Given the description of an element on the screen output the (x, y) to click on. 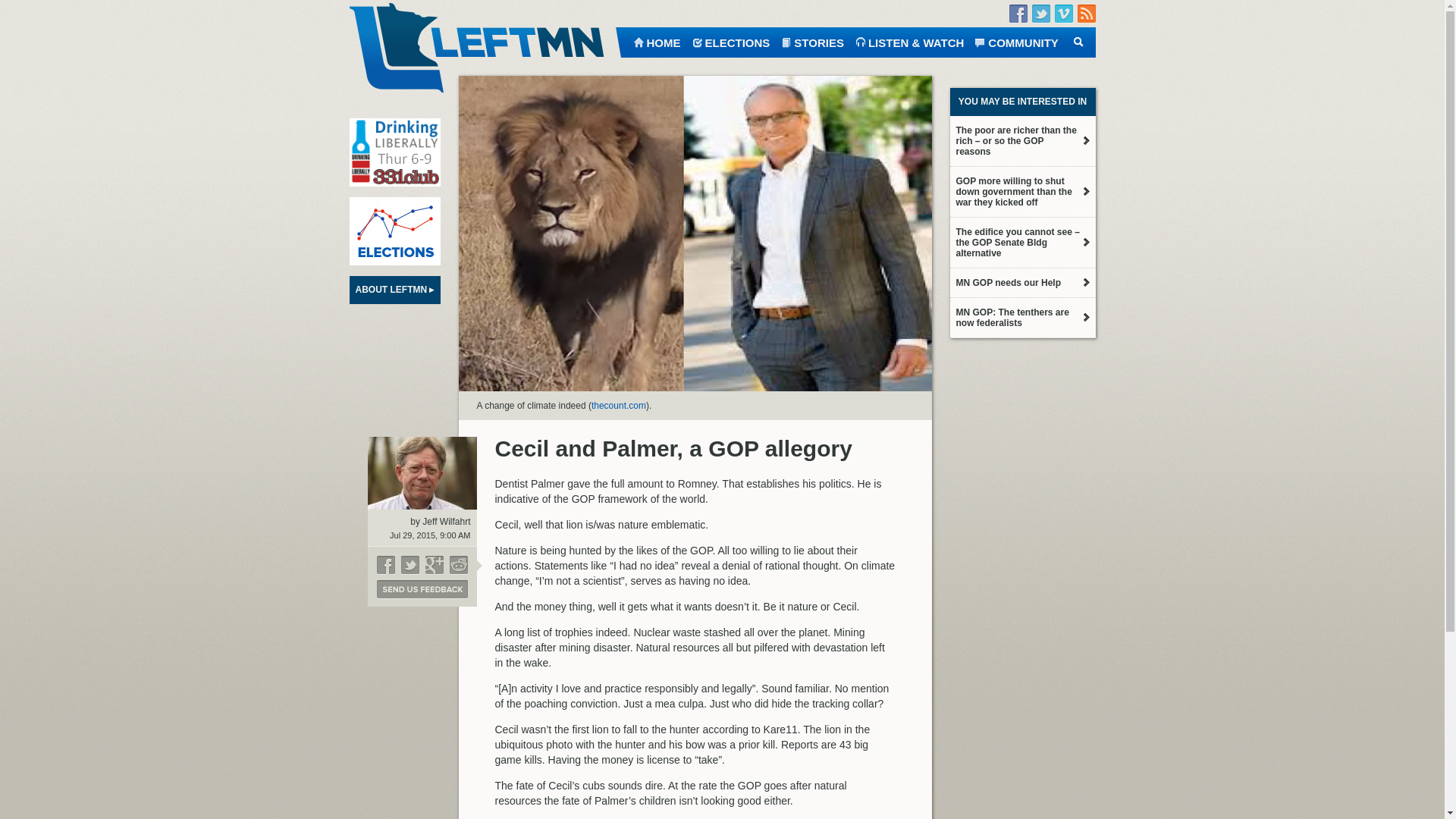
STORIES (812, 41)
LeftMN Elections Site (394, 231)
MN GOP needs our Help (1021, 282)
ELECTIONS (730, 41)
Drinking Liberally Minneapolis (394, 151)
Vimeo (1062, 13)
Twitter (1039, 13)
thecount.com (618, 405)
SEARCH (1077, 41)
